Given the description of an element on the screen output the (x, y) to click on. 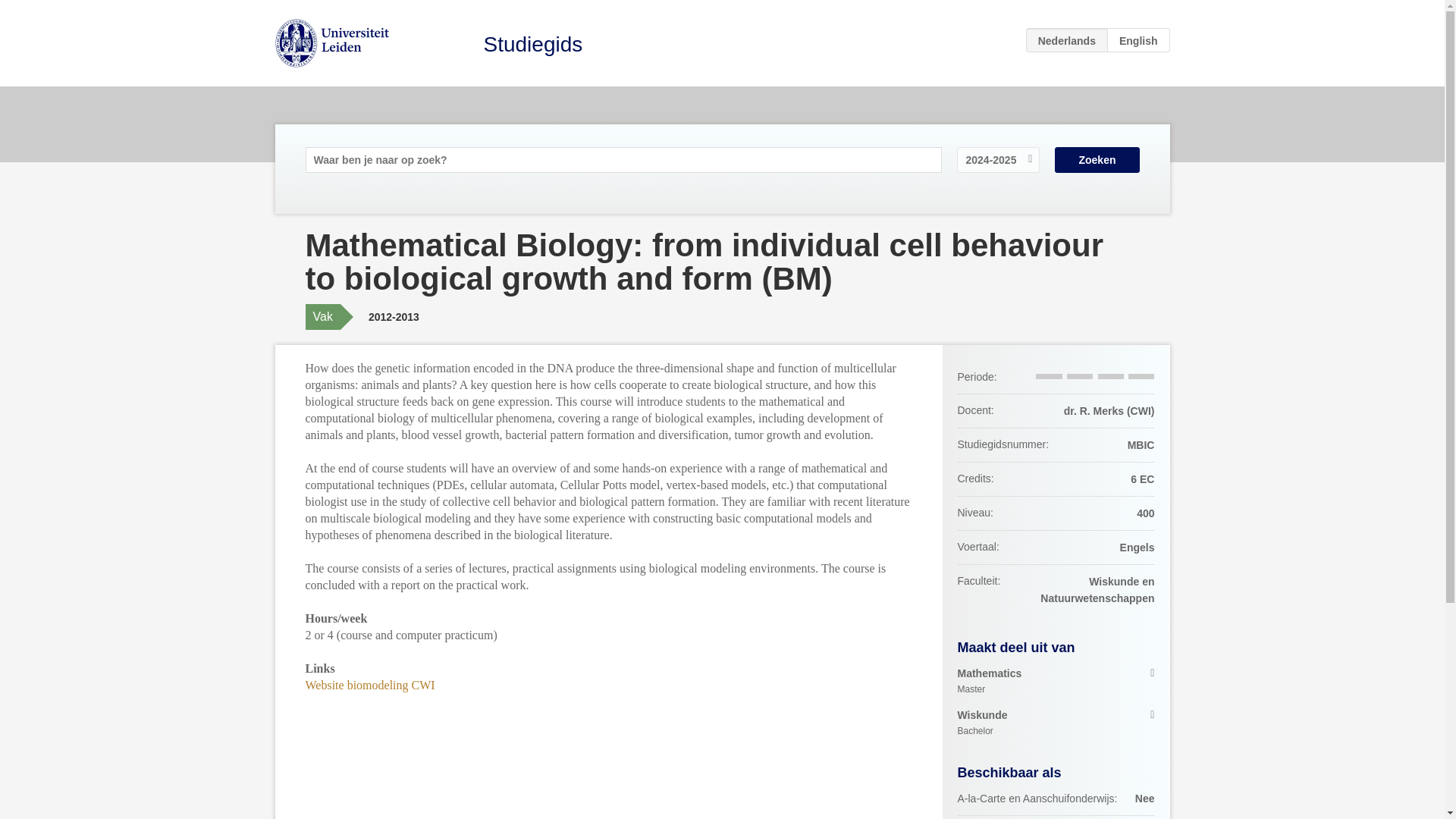
Studiegids (533, 44)
Website biomodeling CWI (368, 684)
EN (1138, 39)
Zoeken (1055, 681)
